Given the description of an element on the screen output the (x, y) to click on. 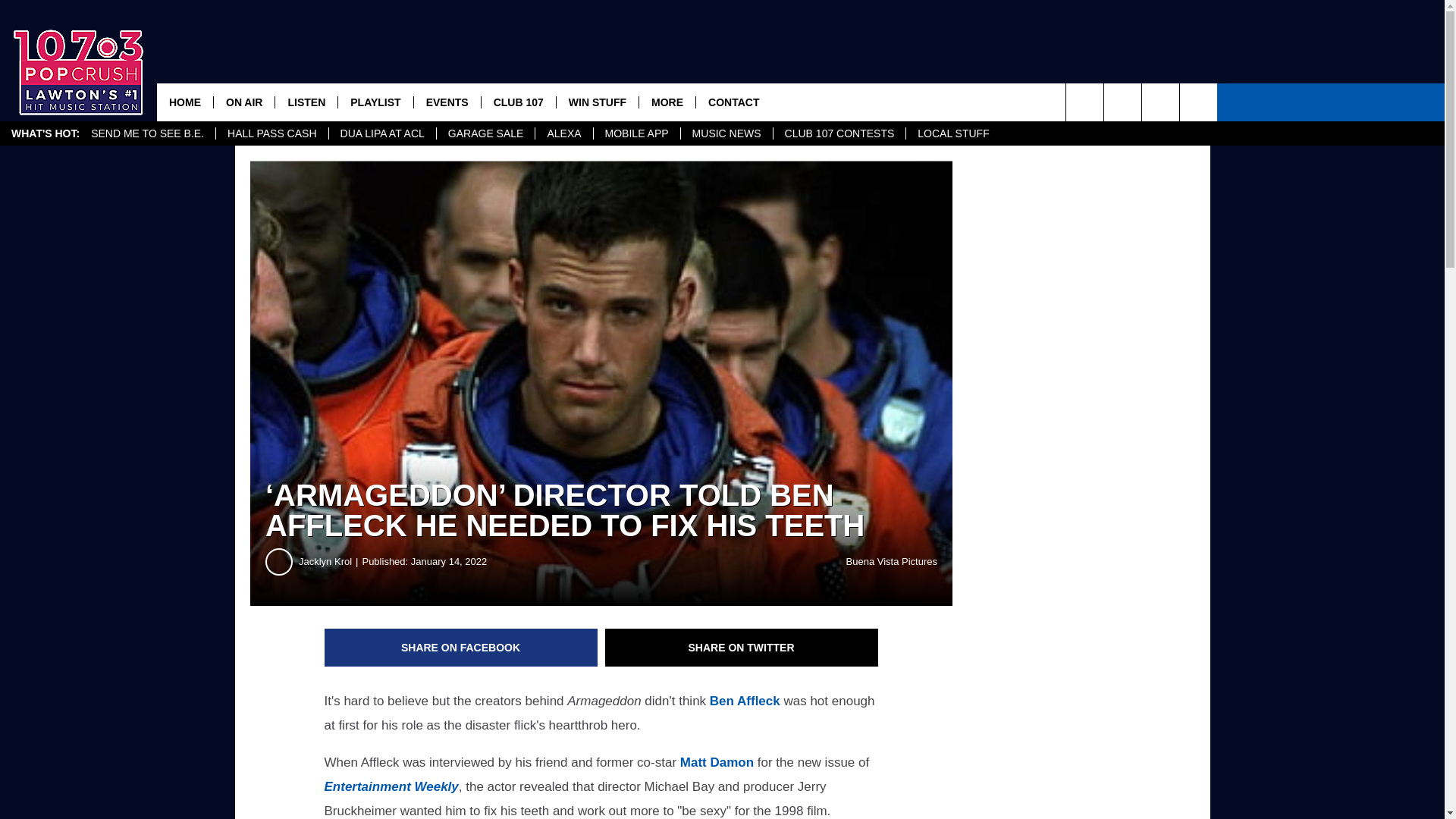
HOME (184, 102)
MORE (667, 102)
CONTACT (733, 102)
LOCAL STUFF (952, 133)
DUA LIPA AT ACL (382, 133)
ON AIR (243, 102)
ALEXA (563, 133)
MOBILE APP (635, 133)
LISTEN (306, 102)
Share on Twitter (741, 647)
MUSIC NEWS (726, 133)
Share on Facebook (460, 647)
CLUB 107 CONTESTS (839, 133)
GARAGE SALE (485, 133)
EVENTS (446, 102)
